Given the description of an element on the screen output the (x, y) to click on. 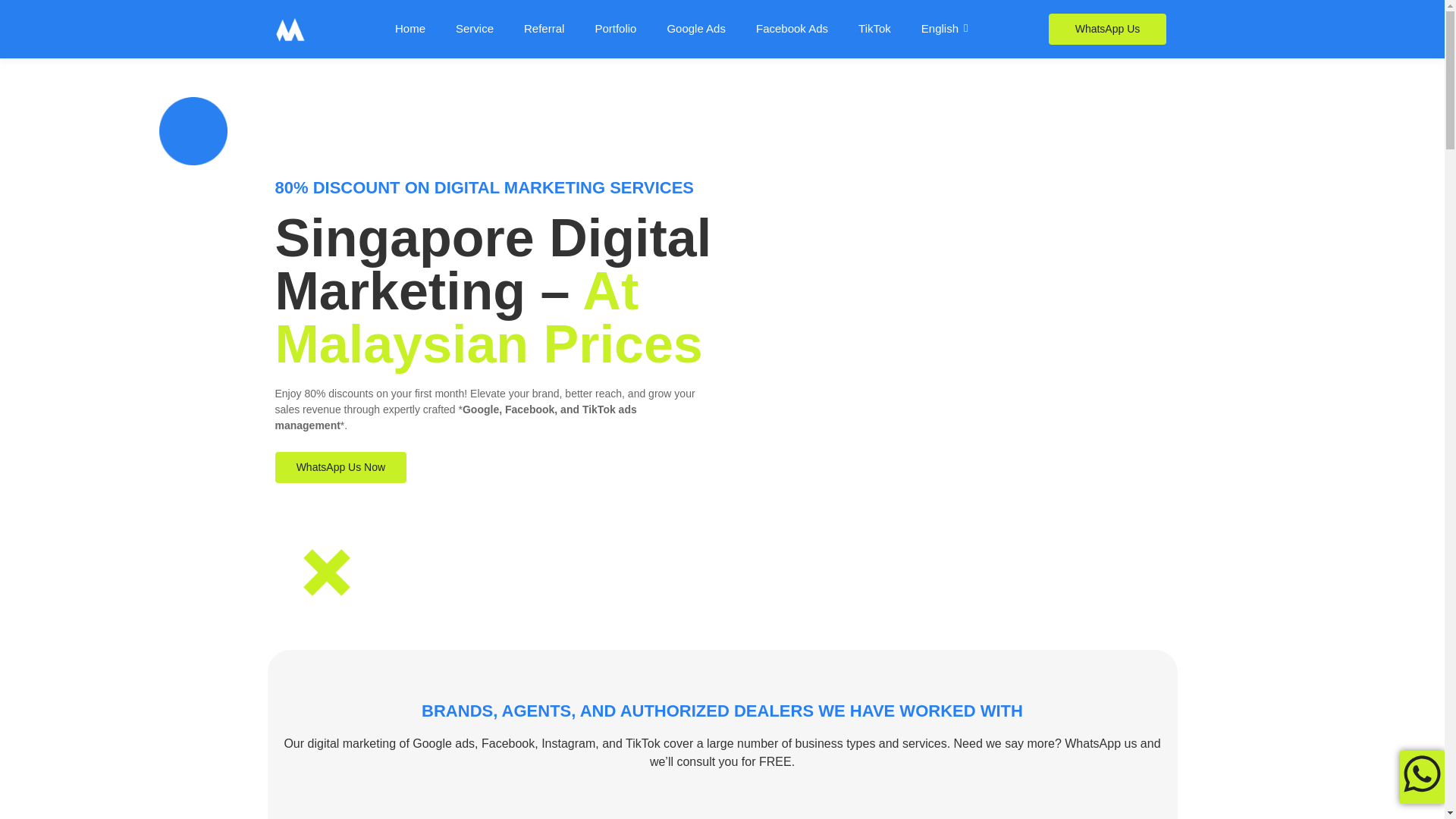
Portfolio (615, 28)
WhatsApp Us Now (340, 467)
Referral (544, 28)
Google Ads (695, 28)
Facebook Ads (791, 28)
WhatsApp Us (1107, 29)
